Given the description of an element on the screen output the (x, y) to click on. 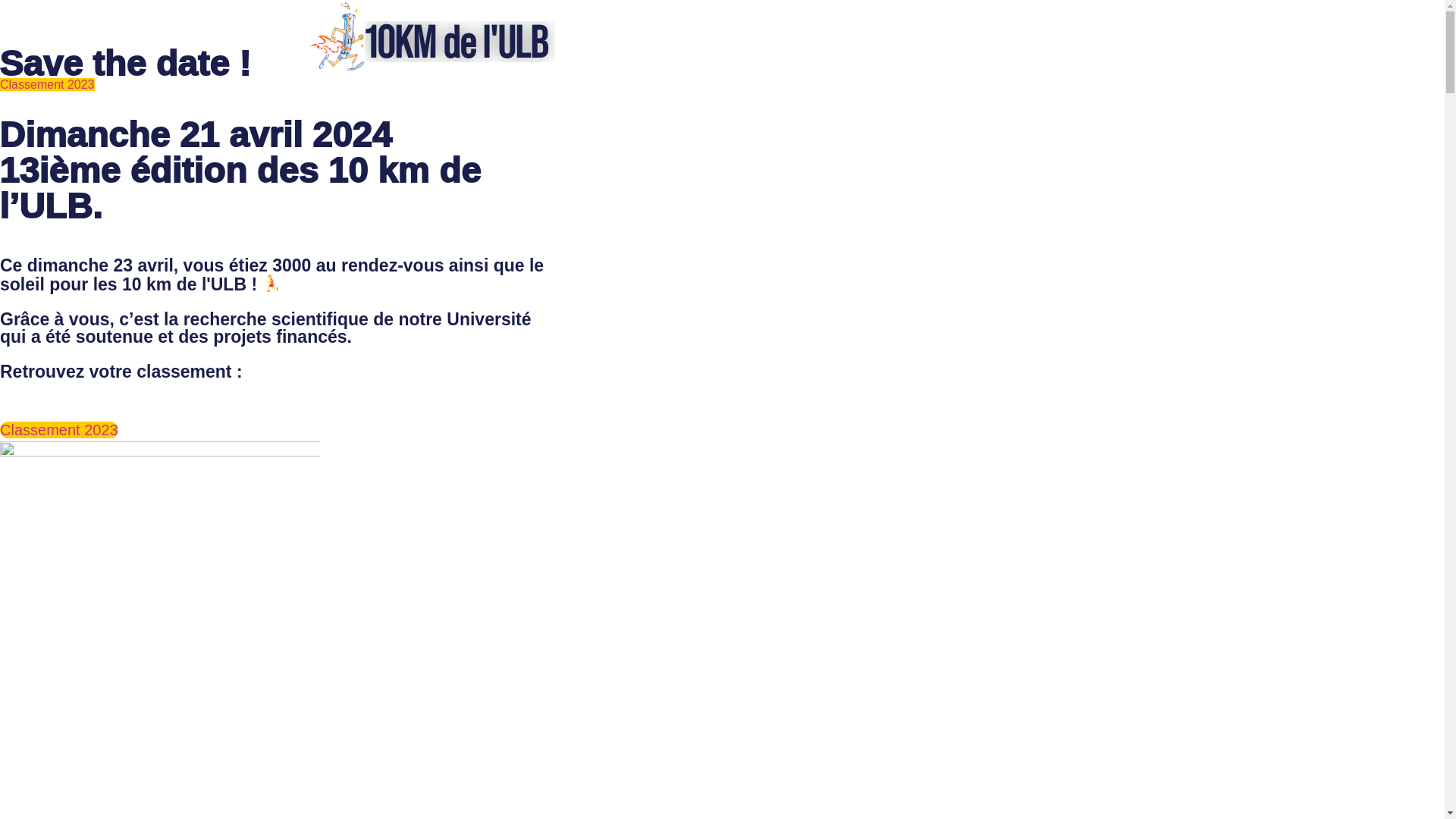
Classement 2023 Element type: text (59, 429)
Classement 2023 Element type: text (47, 84)
